Given the description of an element on the screen output the (x, y) to click on. 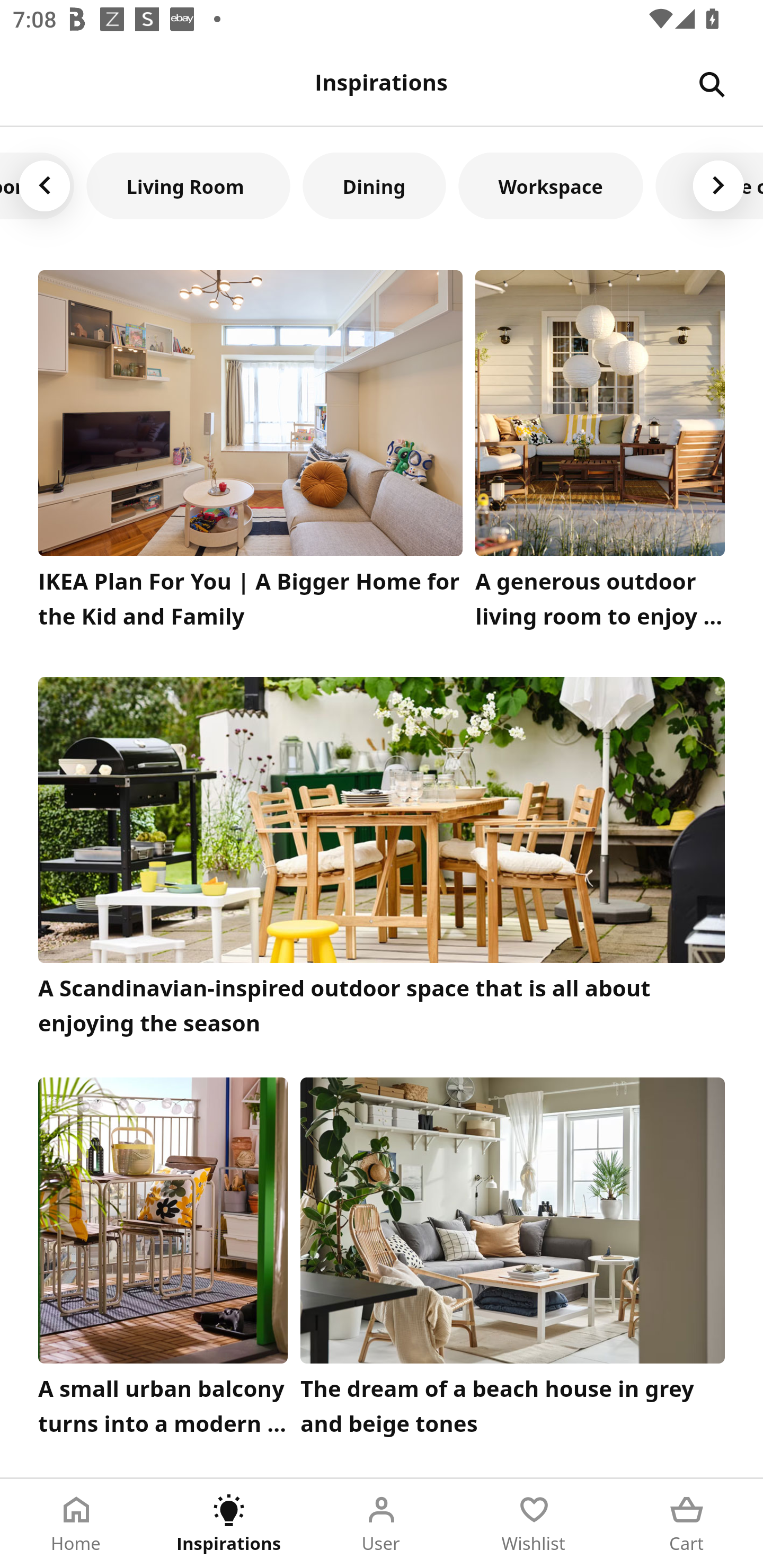
Living Room  (188, 185)
Dining (374, 185)
Workspace (550, 185)
The dream of a beach house in grey and beige tones (512, 1261)
Home
Tab 1 of 5 (76, 1522)
Inspirations
Tab 2 of 5 (228, 1522)
User
Tab 3 of 5 (381, 1522)
Wishlist
Tab 4 of 5 (533, 1522)
Cart
Tab 5 of 5 (686, 1522)
